Given the description of an element on the screen output the (x, y) to click on. 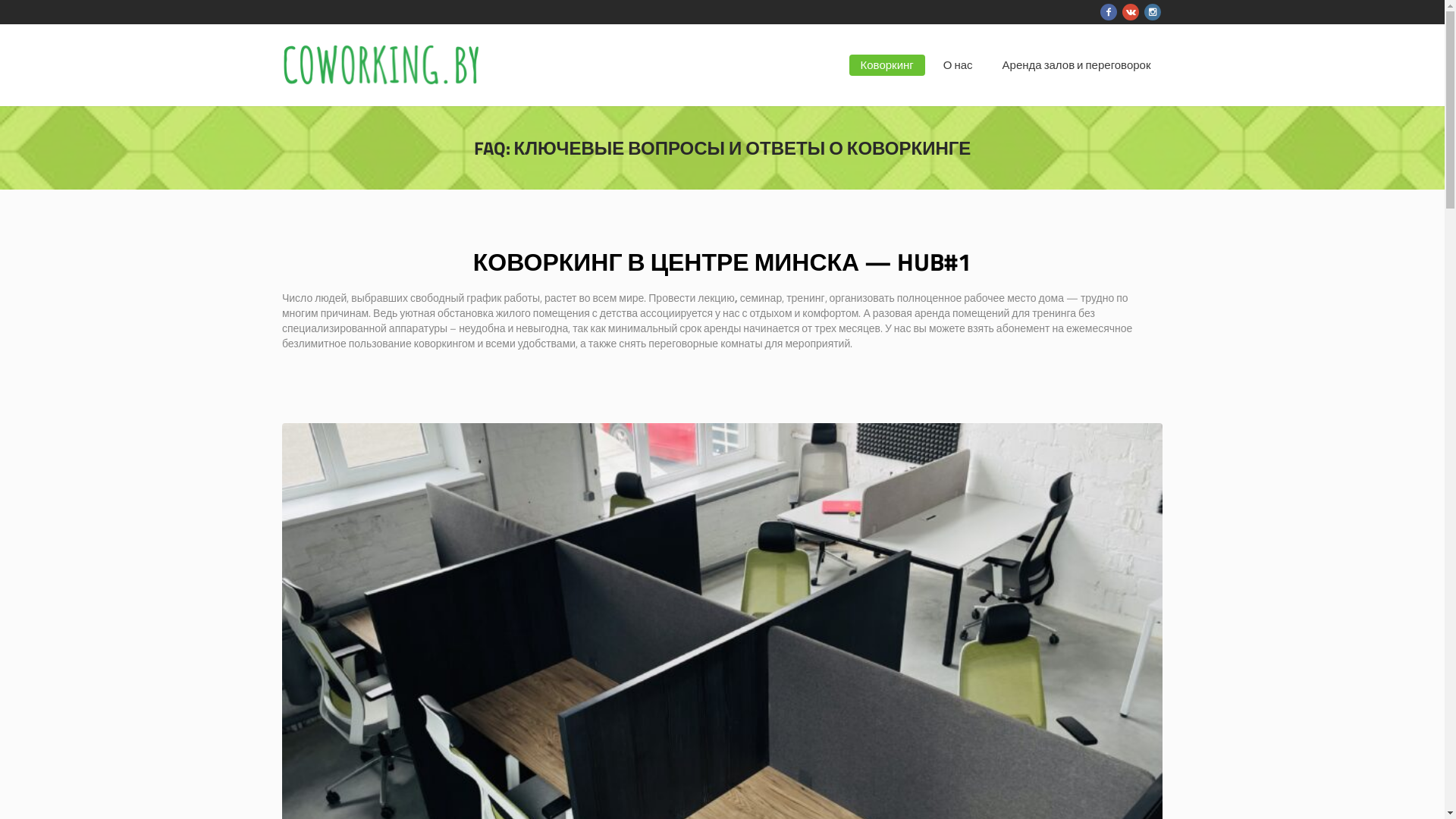
VK Element type: hover (1130, 11)
Instagram Element type: hover (1151, 11)
Facebook Element type: hover (1107, 11)
